Given the description of an element on the screen output the (x, y) to click on. 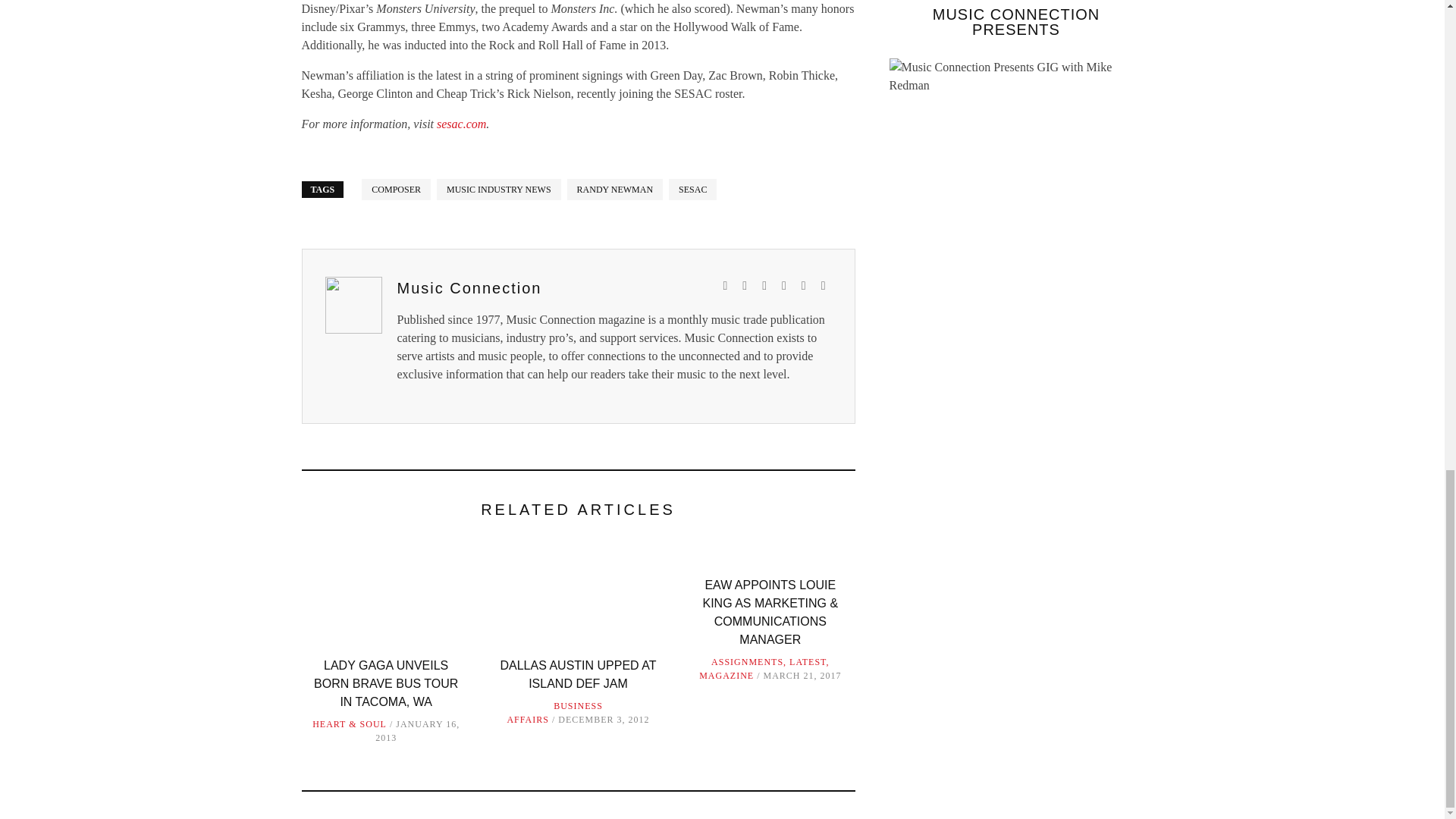
View all posts tagged music industry news (498, 189)
View all posts tagged SESAC (692, 189)
View all posts tagged Randy Newman (615, 189)
View all posts tagged composer (395, 189)
